Given the description of an element on the screen output the (x, y) to click on. 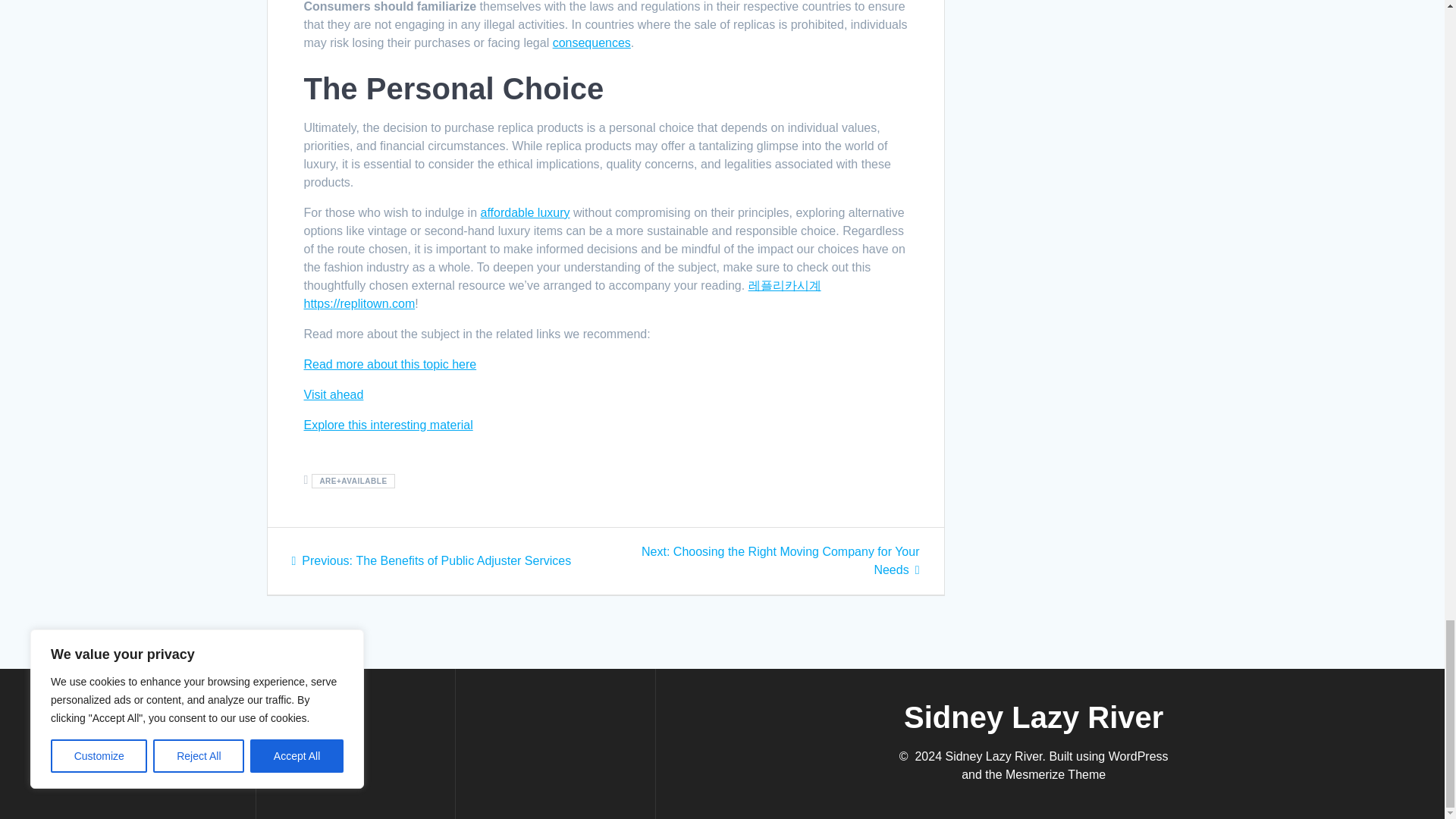
Read more about this topic here (389, 364)
affordable luxury (525, 212)
consequences (591, 42)
Explore this interesting material (386, 424)
Visit ahead (332, 394)
